Given the description of an element on the screen output the (x, y) to click on. 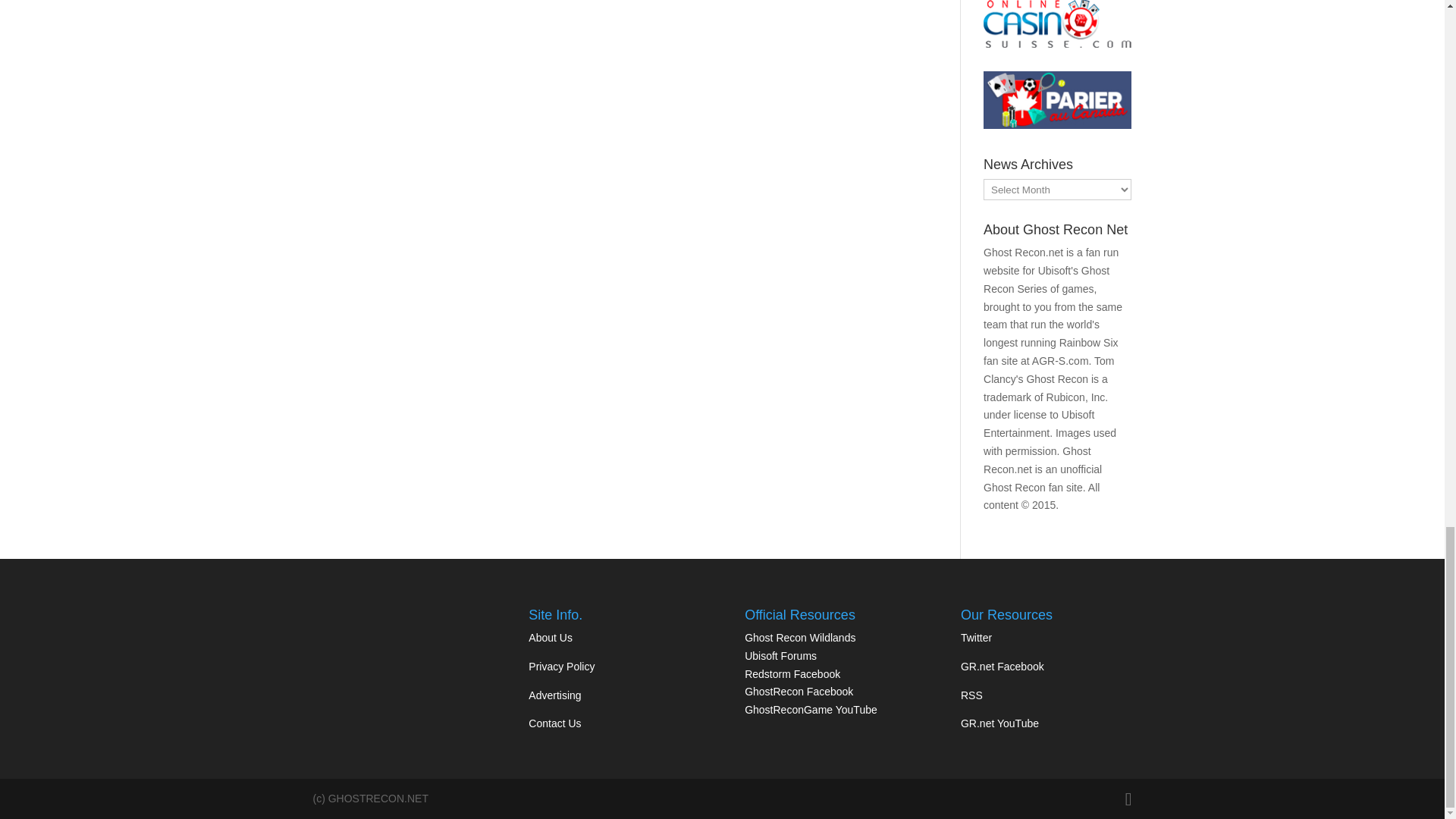
Privacy Policy (561, 666)
Contact Us (554, 723)
GR.net Facebook (1001, 666)
Ghost Recon Wildlands (800, 637)
Advertising (554, 695)
About Us (550, 637)
Ubisoft Forums (780, 655)
RSS (971, 695)
GhostRecon Facebook (798, 691)
GhostReconGame YouTube (810, 709)
